Given the description of an element on the screen output the (x, y) to click on. 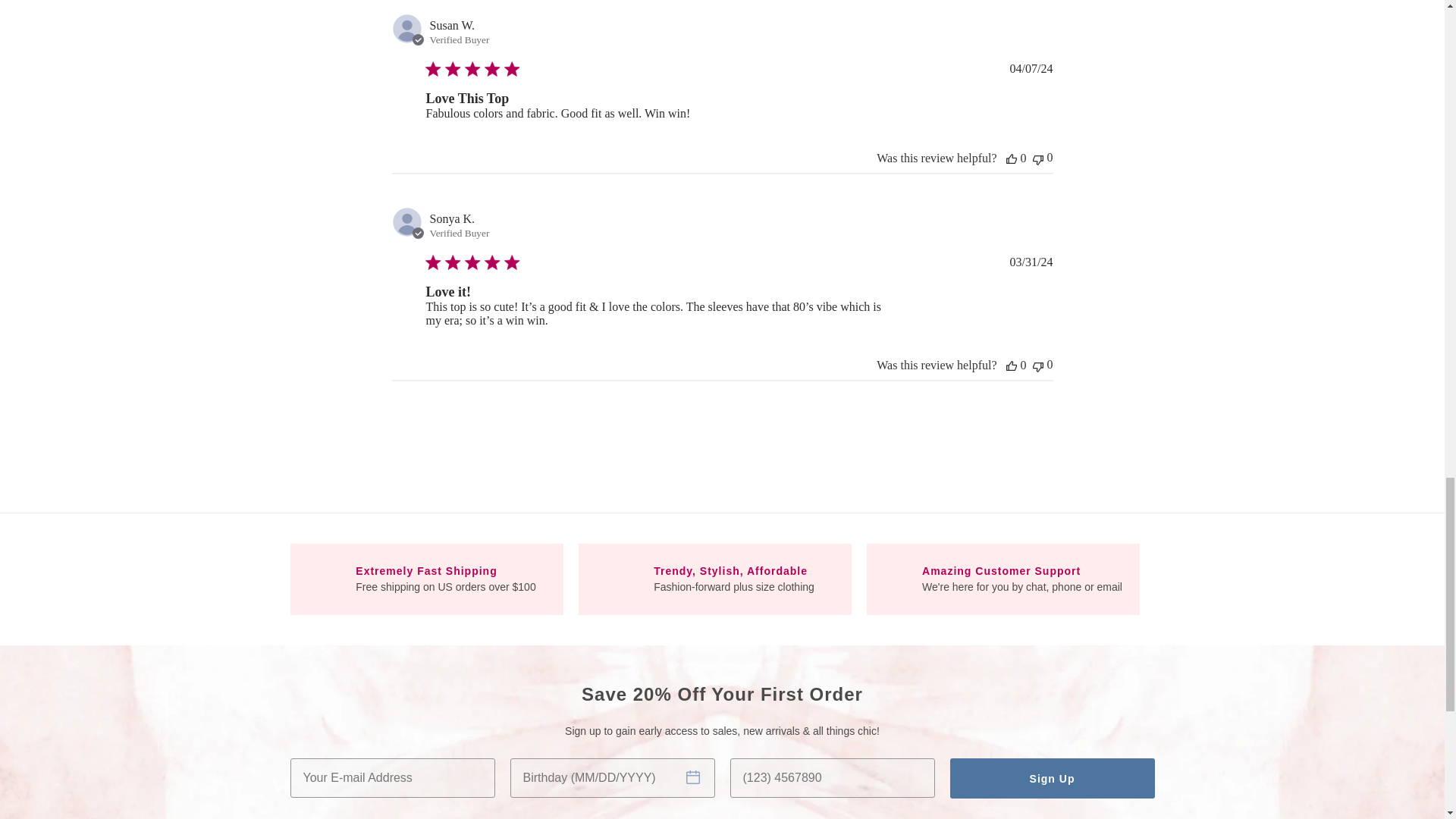
Sign Up (1051, 778)
